Given the description of an element on the screen output the (x, y) to click on. 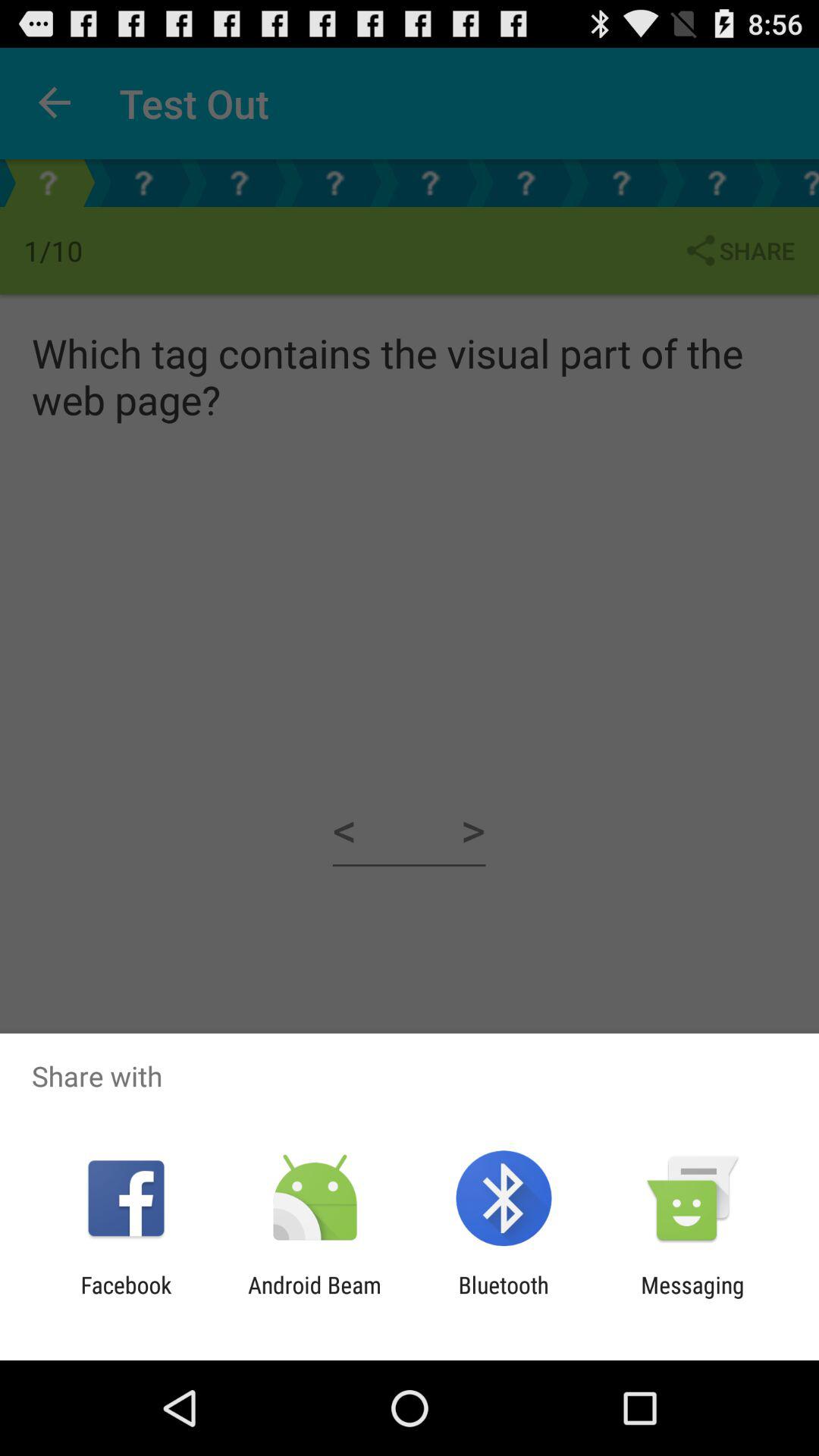
tap the app to the right of bluetooth app (692, 1298)
